Given the description of an element on the screen output the (x, y) to click on. 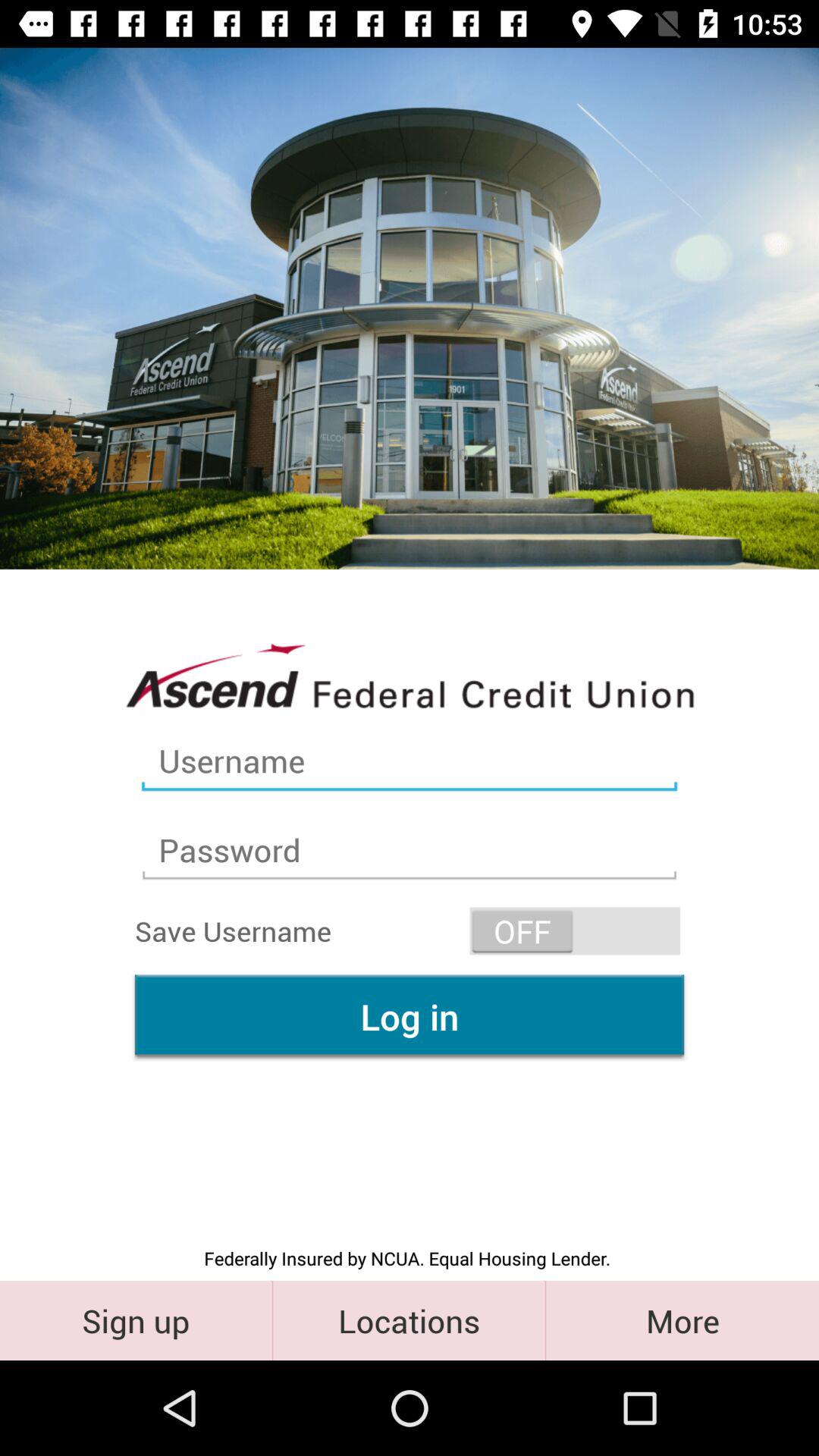
click item below federally insured by icon (682, 1320)
